Given the description of an element on the screen output the (x, y) to click on. 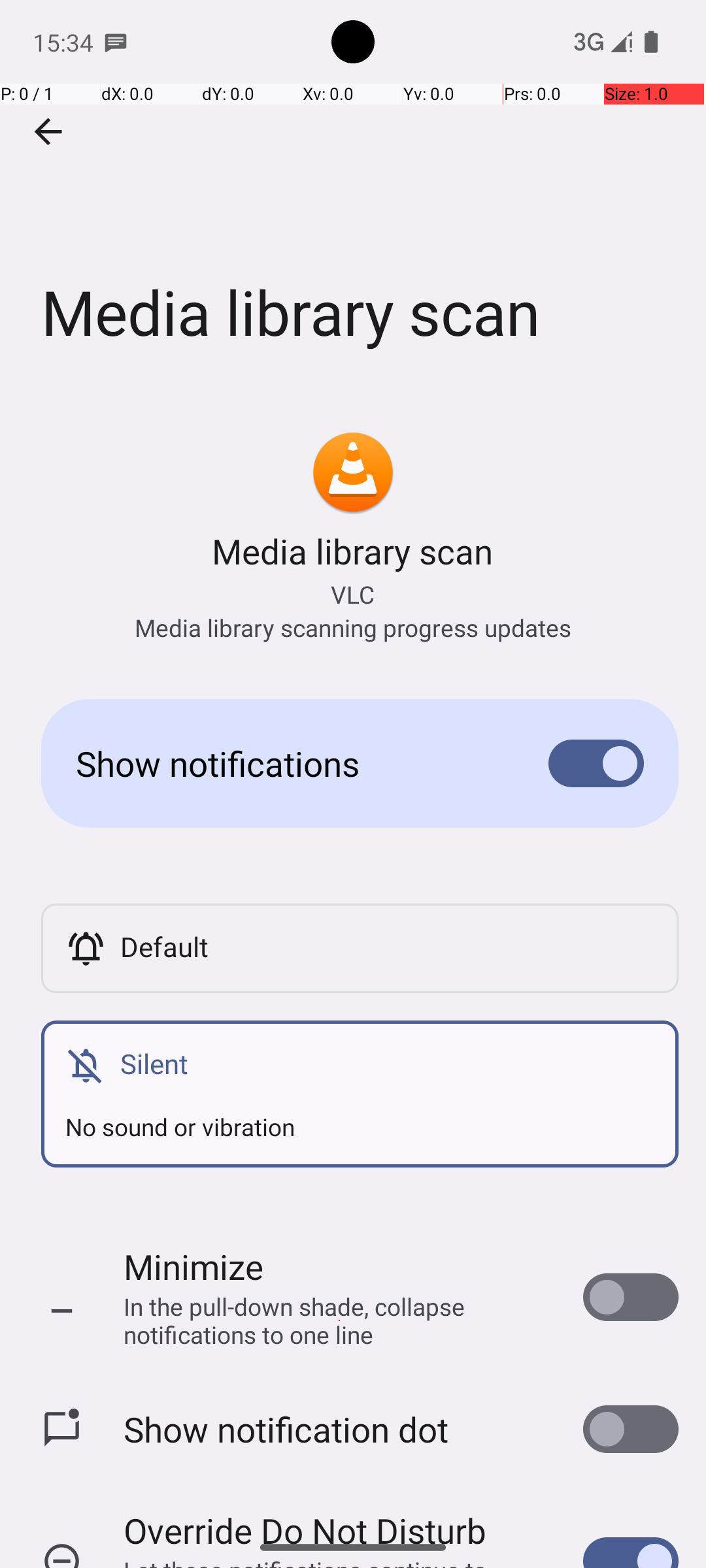
Media library scan Element type: android.widget.FrameLayout (353, 195)
Media library scanning progress updates Element type: android.widget.TextView (352, 627)
Show notifications Element type: android.widget.TextView (291, 763)
Minimize Element type: android.widget.TextView (193, 1266)
In the pull-down shade, collapse notifications to one line Element type: android.widget.TextView (339, 1320)
Show notification dot Element type: android.widget.TextView (285, 1428)
Override Do Not Disturb Element type: android.widget.TextView (304, 1516)
No sound or vibration Element type: android.widget.TextView (359, 1114)
